Given the description of an element on the screen output the (x, y) to click on. 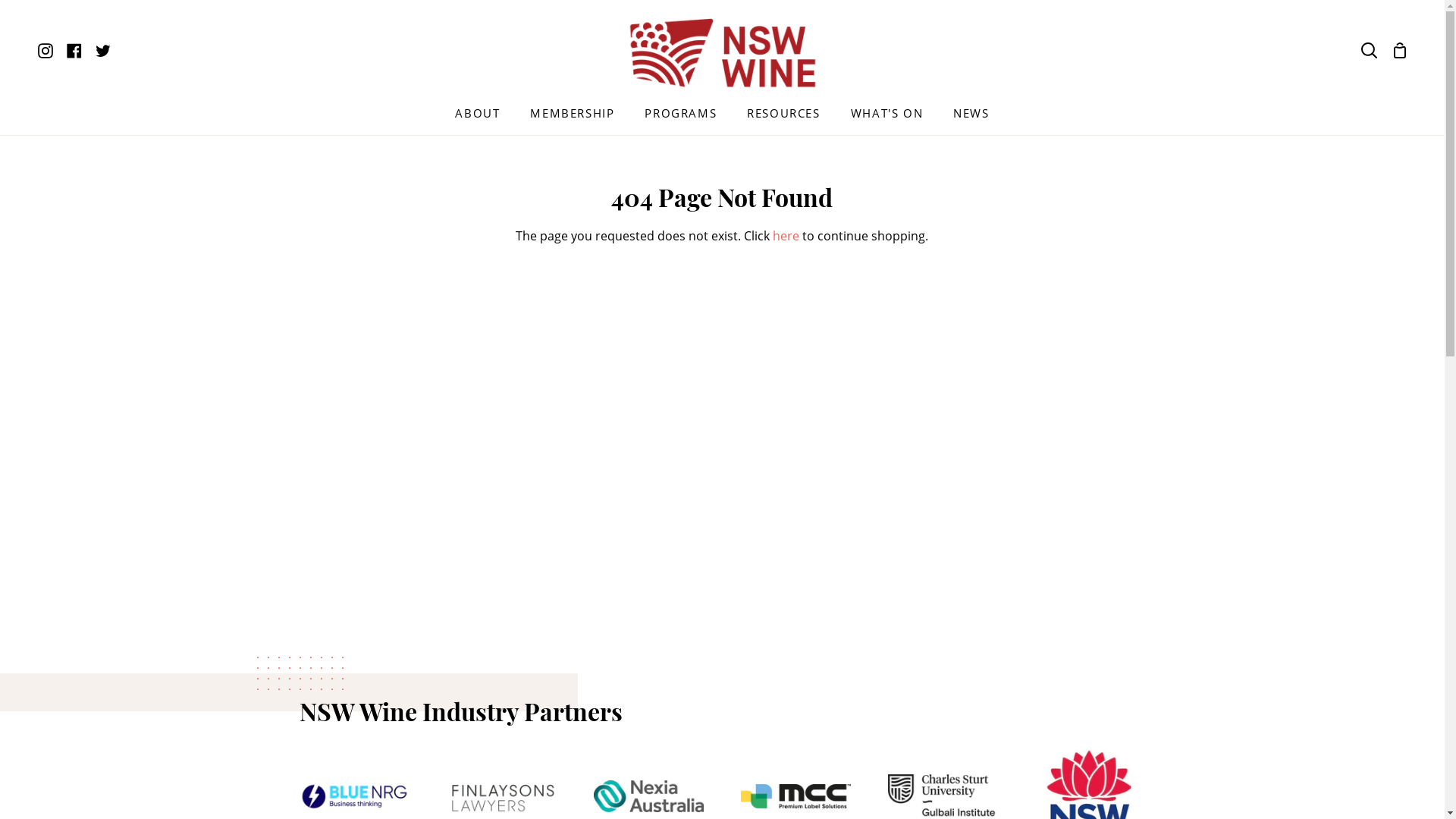
ABOUT Element type: text (476, 117)
Facebook Element type: text (73, 49)
NEWS Element type: text (971, 117)
MEMBERSHIP Element type: text (571, 117)
Twitter Element type: text (102, 49)
PROGRAMS Element type: text (680, 117)
here Element type: text (785, 235)
Shopping Cart Element type: text (1399, 50)
Instagram Element type: text (48, 49)
WHAT'S ON Element type: text (886, 117)
Search Element type: text (1368, 50)
RESOURCES Element type: text (782, 117)
